Given the description of an element on the screen output the (x, y) to click on. 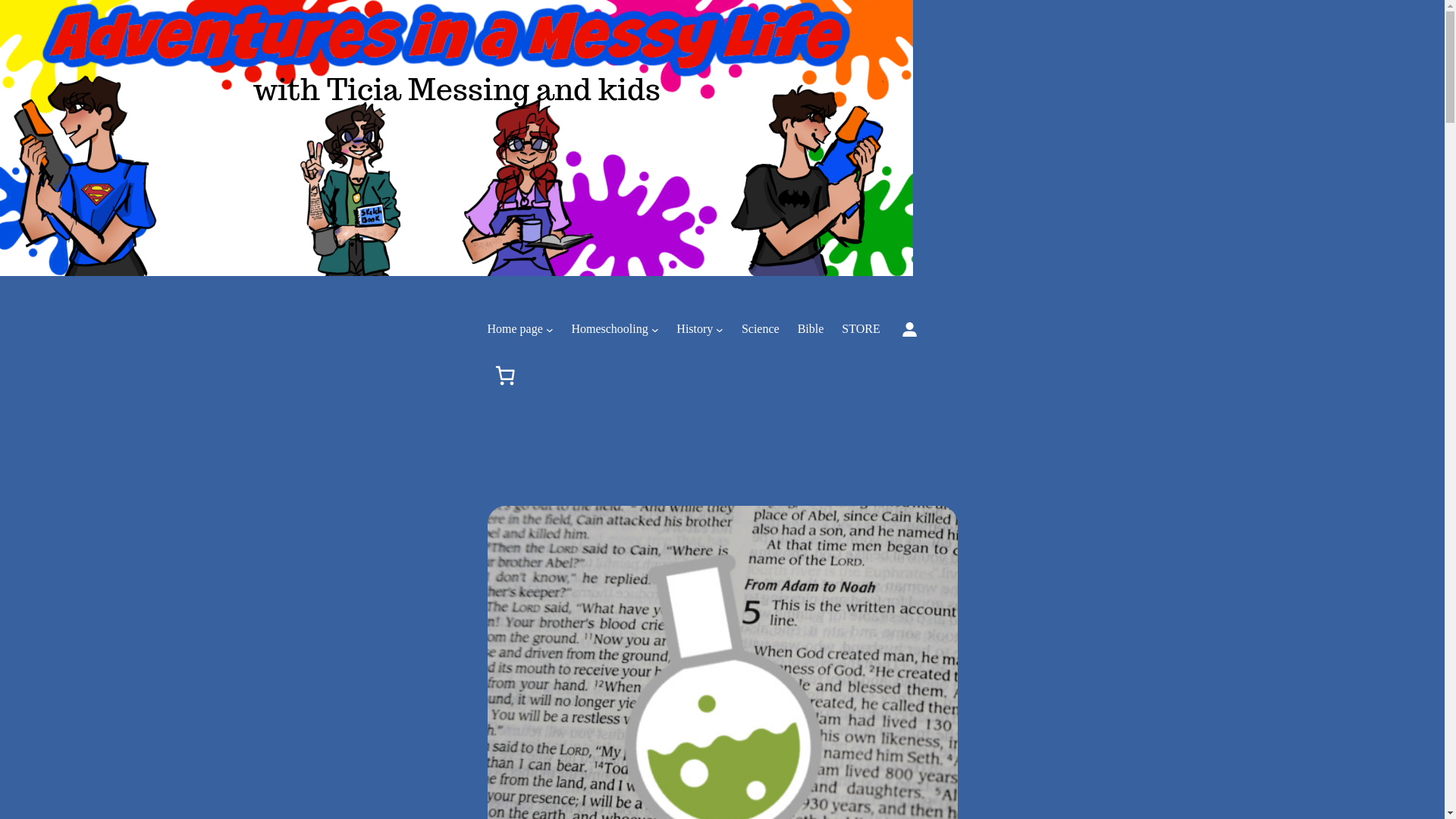
Science (759, 329)
STORE (860, 329)
Bible (810, 329)
Homeschooling (608, 329)
History (695, 329)
Home page (513, 329)
